Given the description of an element on the screen output the (x, y) to click on. 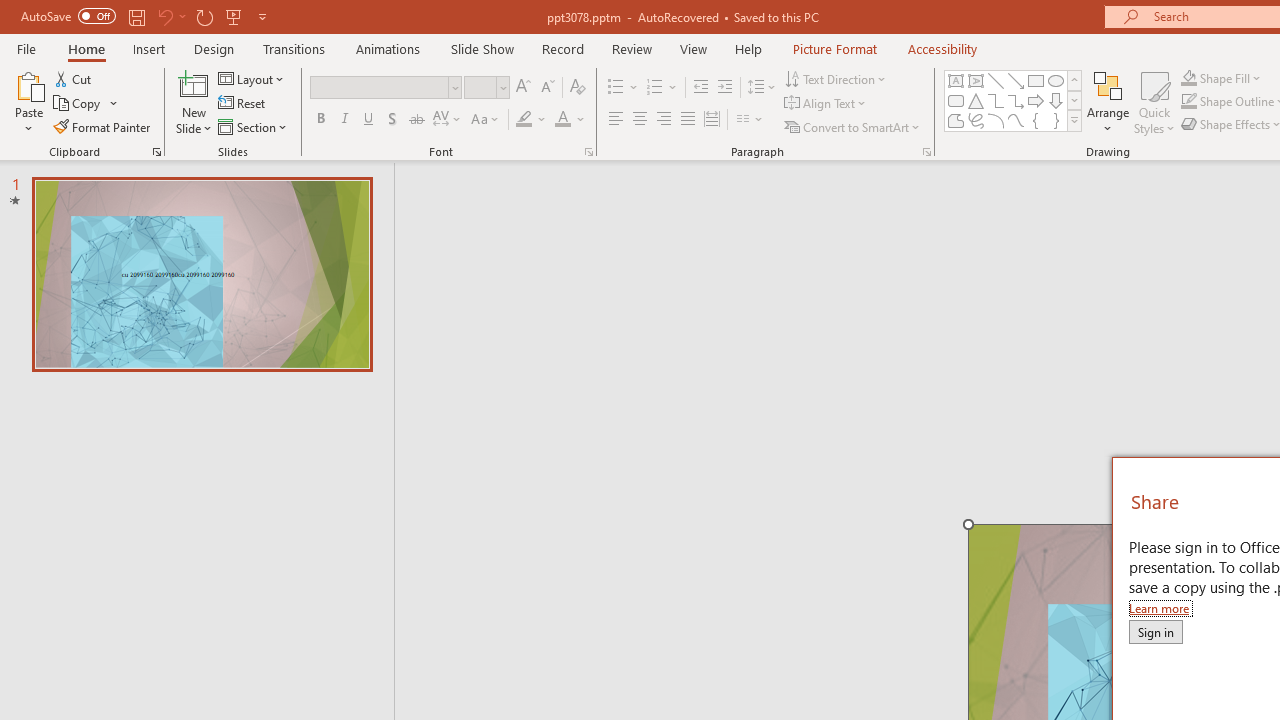
Arrow: Right (1035, 100)
Font Color (569, 119)
Center (639, 119)
Connector: Elbow Arrow (1016, 100)
Strikethrough (416, 119)
Paragraph... (926, 151)
Italic (344, 119)
Vertical Text Box (975, 80)
